Given the description of an element on the screen output the (x, y) to click on. 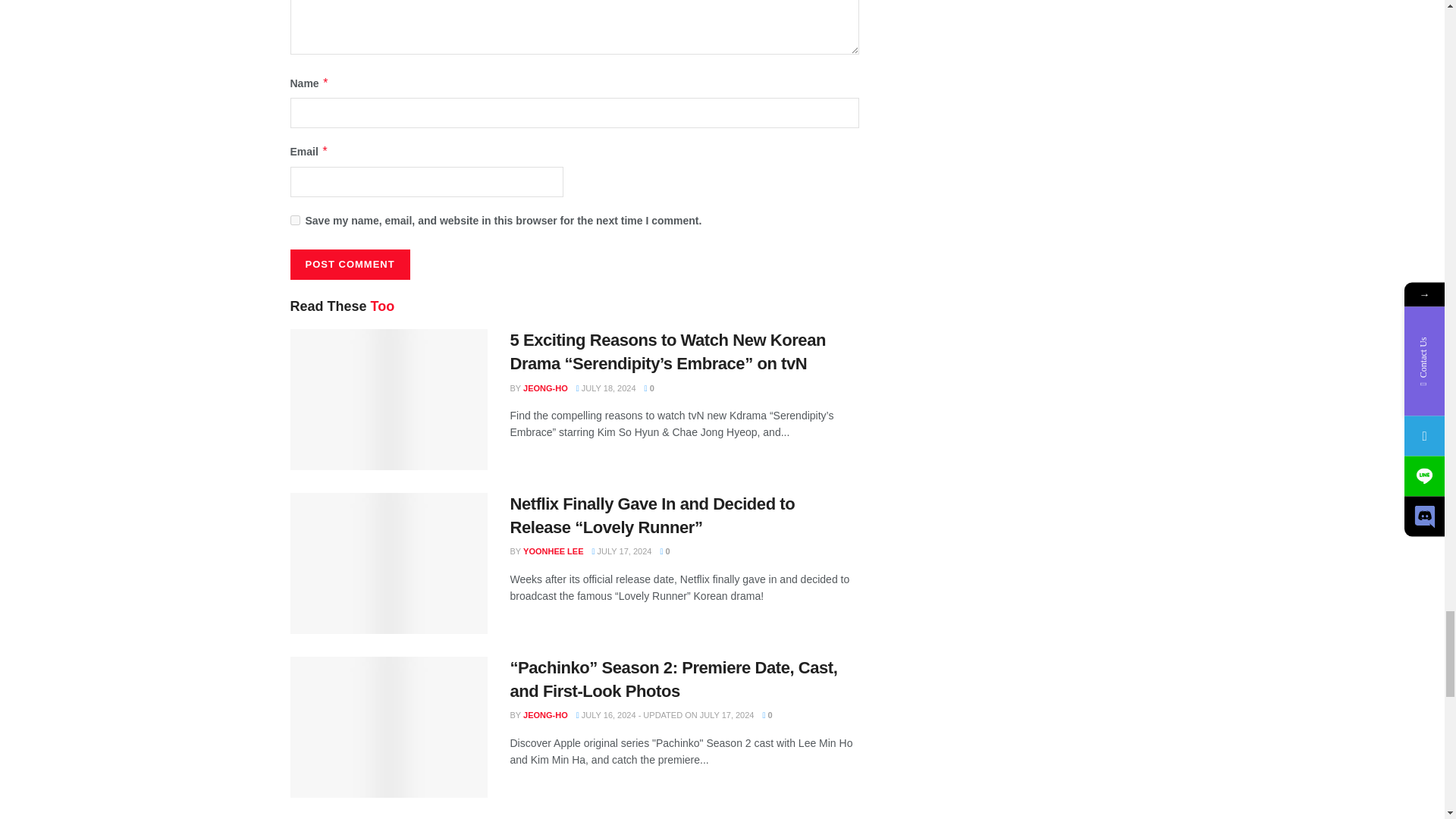
Post Comment (349, 264)
yes (294, 220)
